Given the description of an element on the screen output the (x, y) to click on. 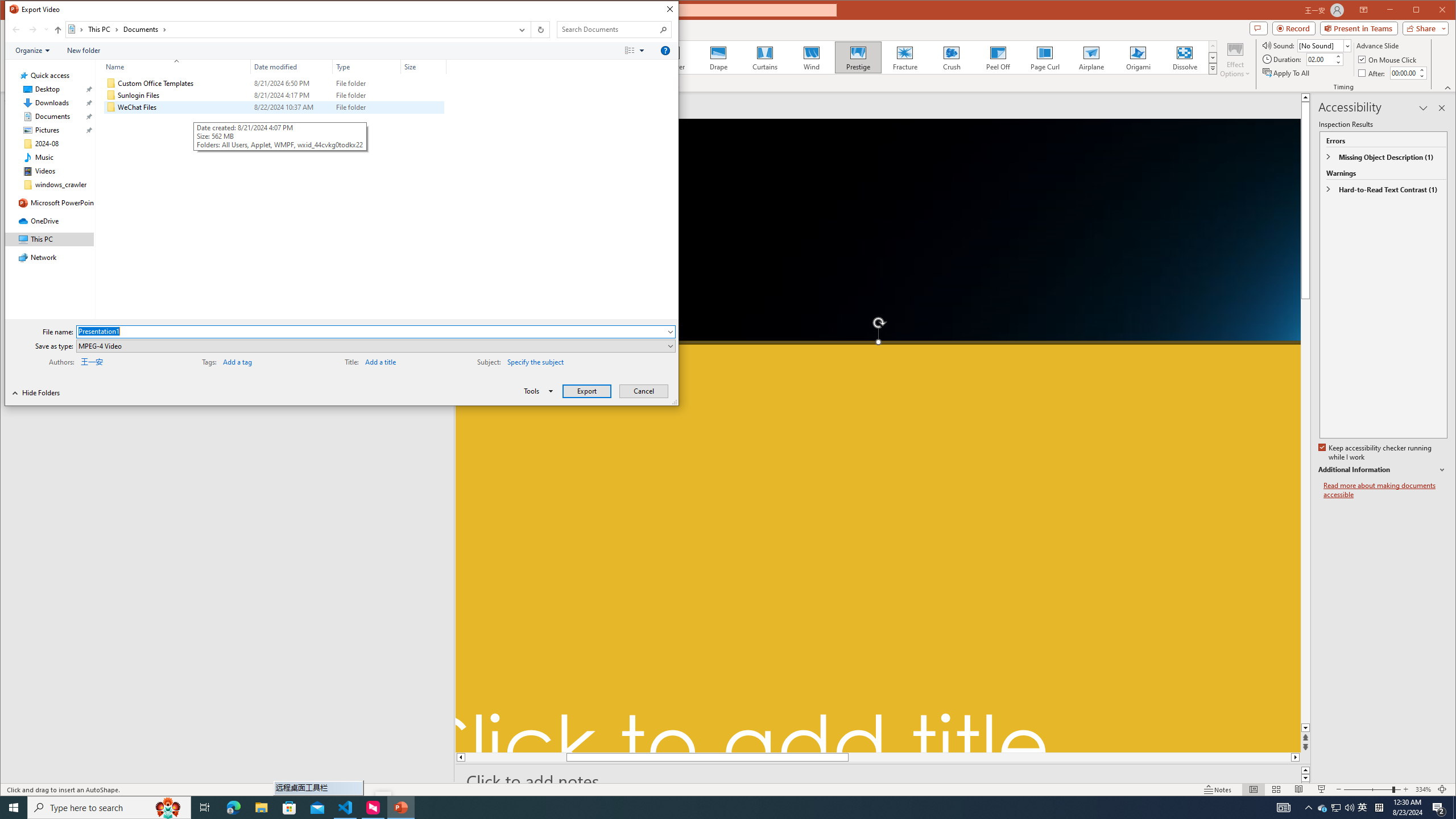
Search Box (608, 29)
Title (400, 361)
Export (586, 391)
Zoom 334% (1422, 789)
Back (Alt + Left Arrow) (15, 29)
On Mouse Click (1387, 59)
Tools (536, 390)
File name: (370, 331)
Peel Off (998, 57)
Sunlogin Files (273, 95)
